Given the description of an element on the screen output the (x, y) to click on. 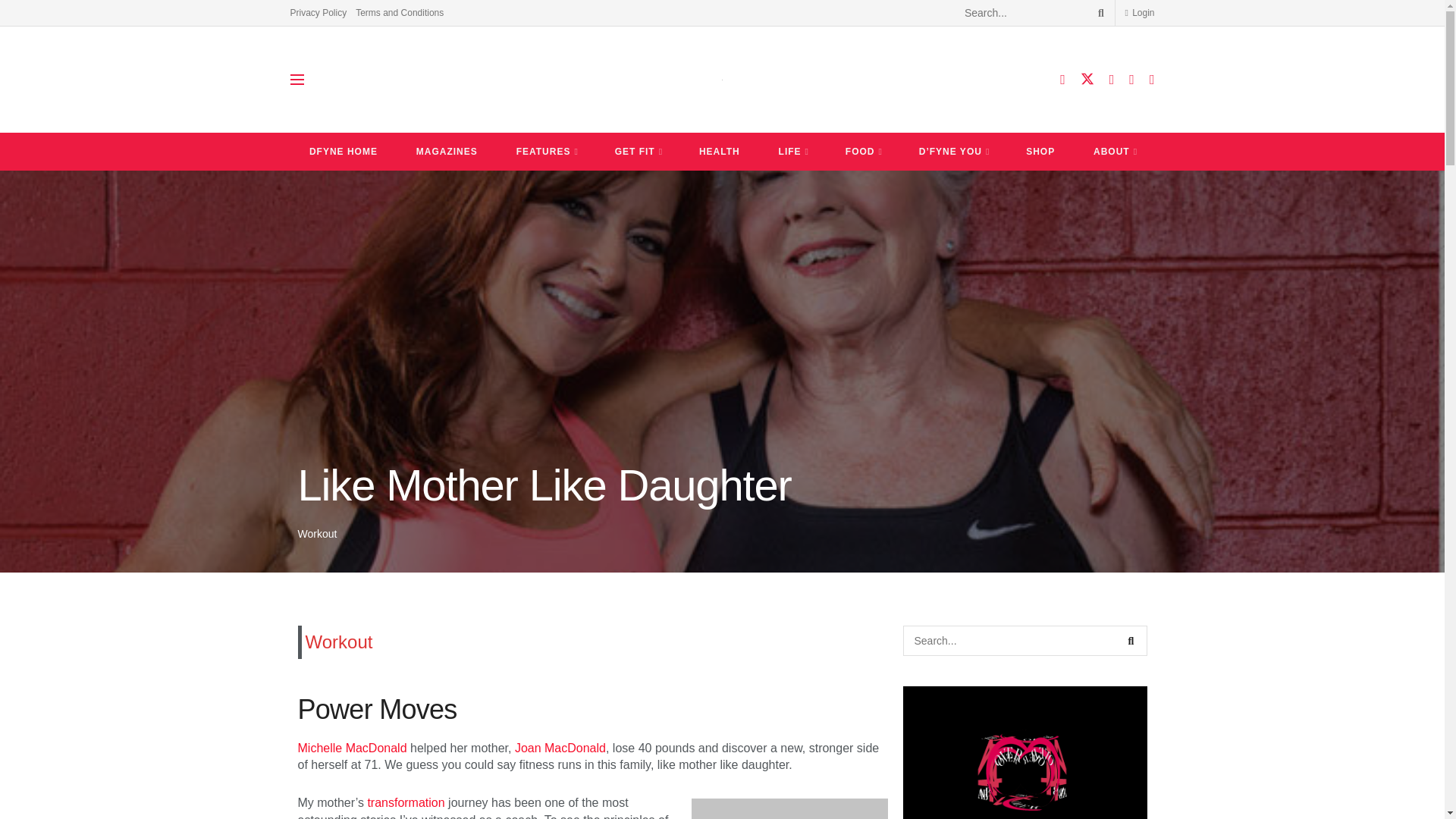
Login (1139, 12)
FEATURES (545, 151)
SHOP (1040, 151)
FOOD (862, 151)
ABOUT (1114, 151)
Privacy Policy (317, 12)
Terms and Conditions (399, 12)
DFYNE HOME (342, 151)
HEALTH (719, 151)
LIFE (791, 151)
